Given the description of an element on the screen output the (x, y) to click on. 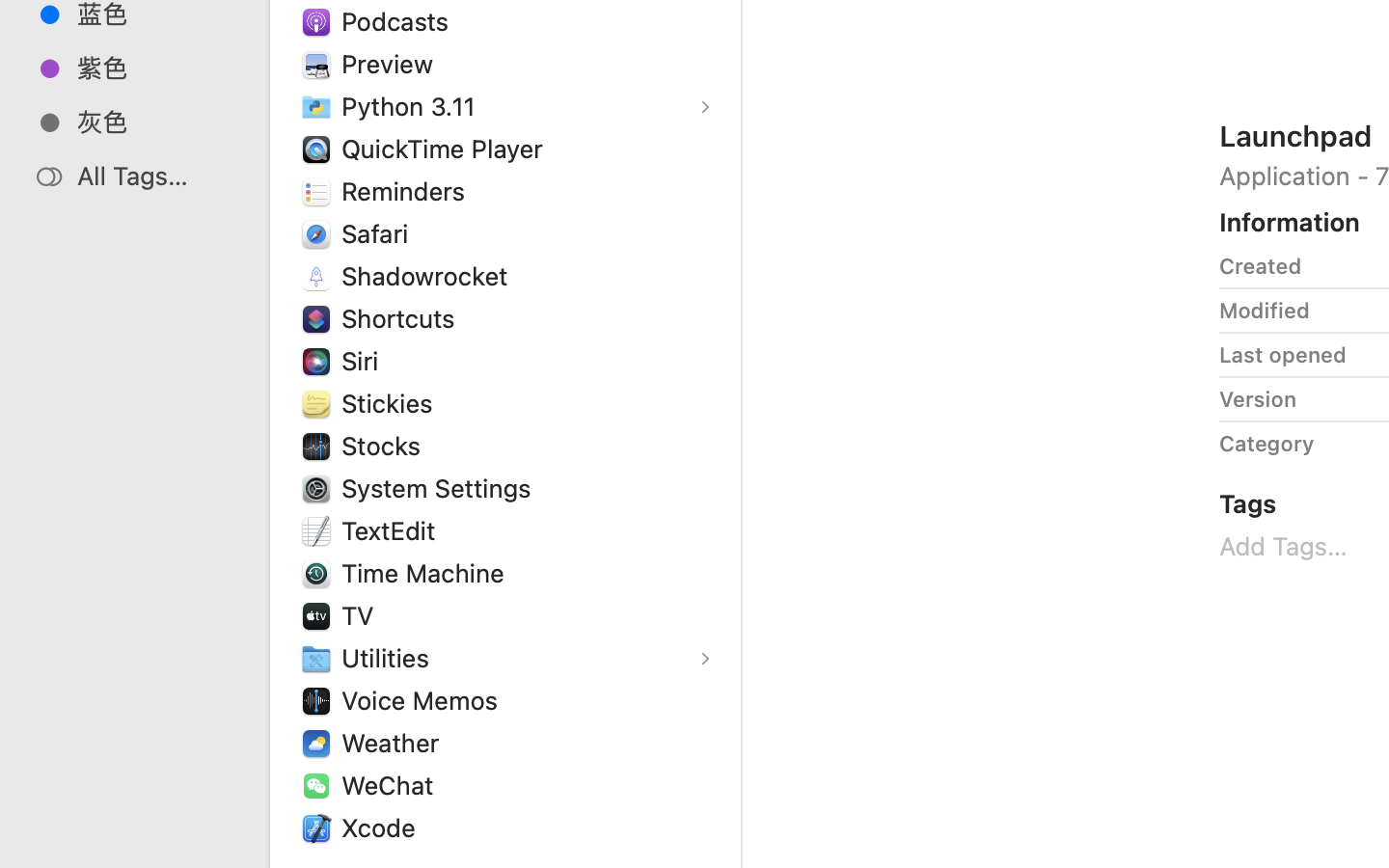
Voice Memos Element type: AXTextField (424, 699)
Shortcuts Element type: AXTextField (401, 317)
Utilities Element type: AXTextField (389, 657)
灰色 Element type: AXStaticText (155, 121)
Modified Element type: AXStaticText (1264, 310)
